Given the description of an element on the screen output the (x, y) to click on. 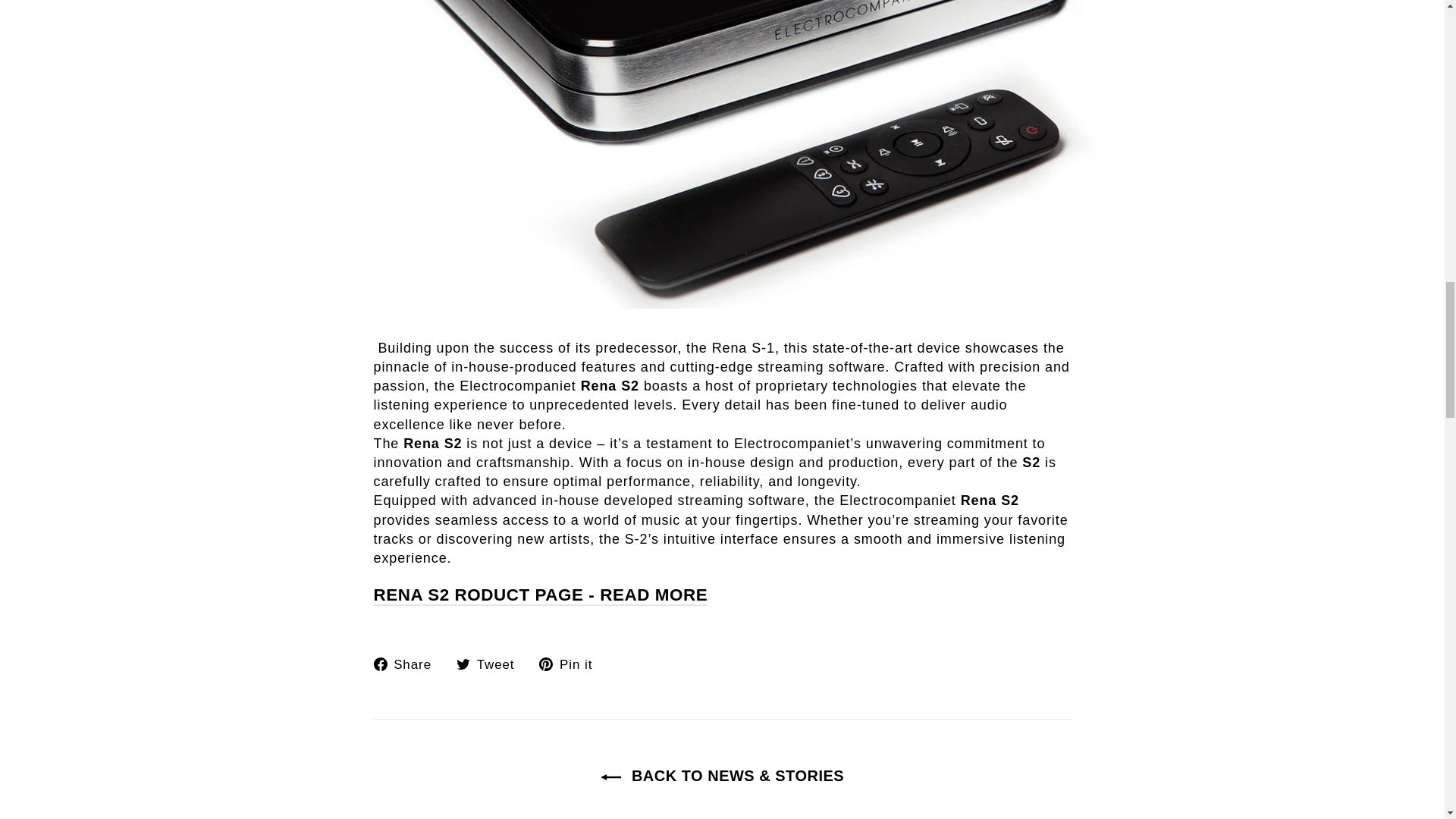
Pin on Pinterest (571, 664)
twitter (463, 663)
ICON-LEFT-ARROW (610, 776)
Tweet on Twitter (491, 664)
Share on Facebook (407, 664)
